Given the description of an element on the screen output the (x, y) to click on. 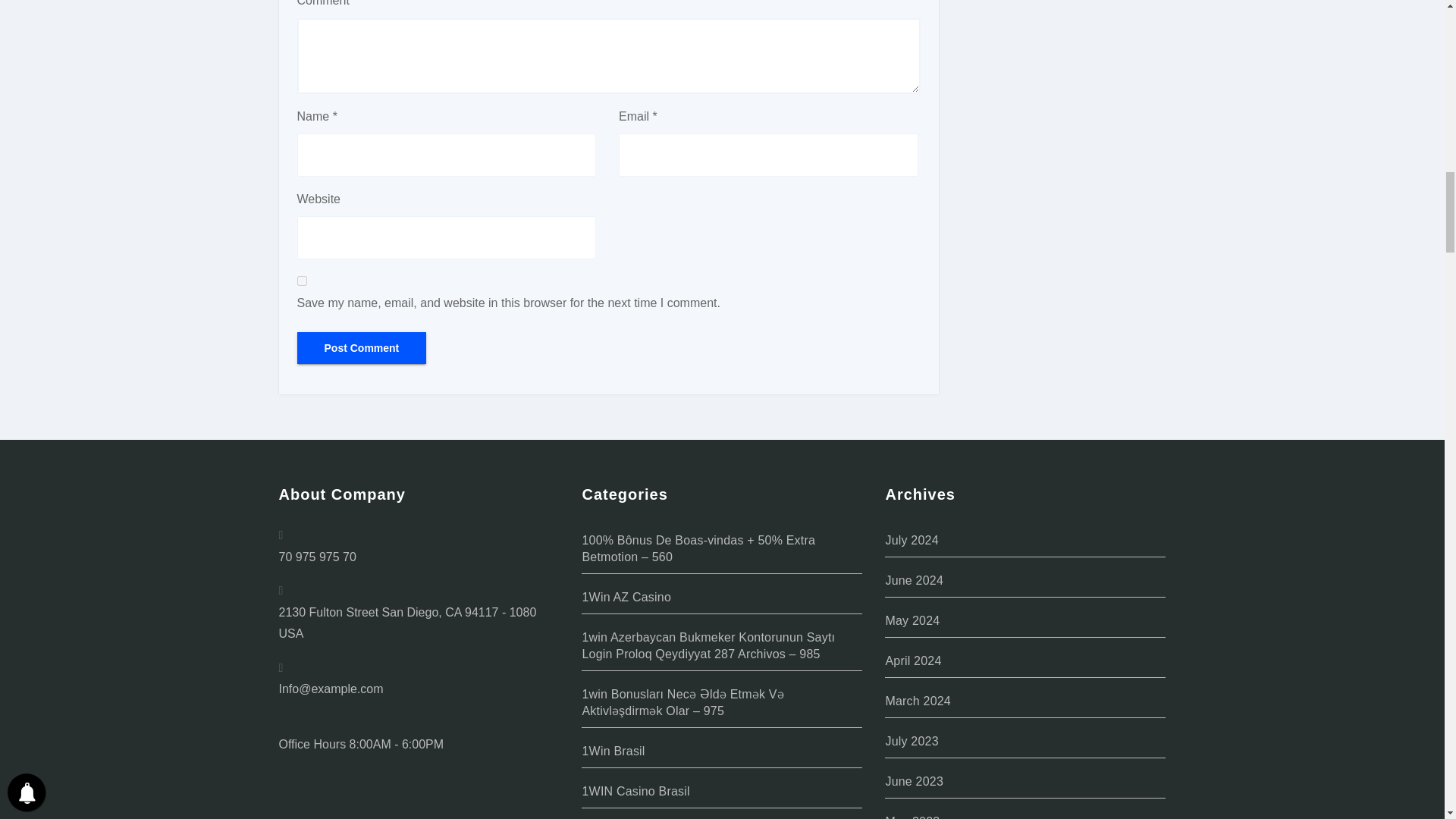
Post Comment (361, 347)
Post Comment (361, 347)
yes (302, 280)
